Given the description of an element on the screen output the (x, y) to click on. 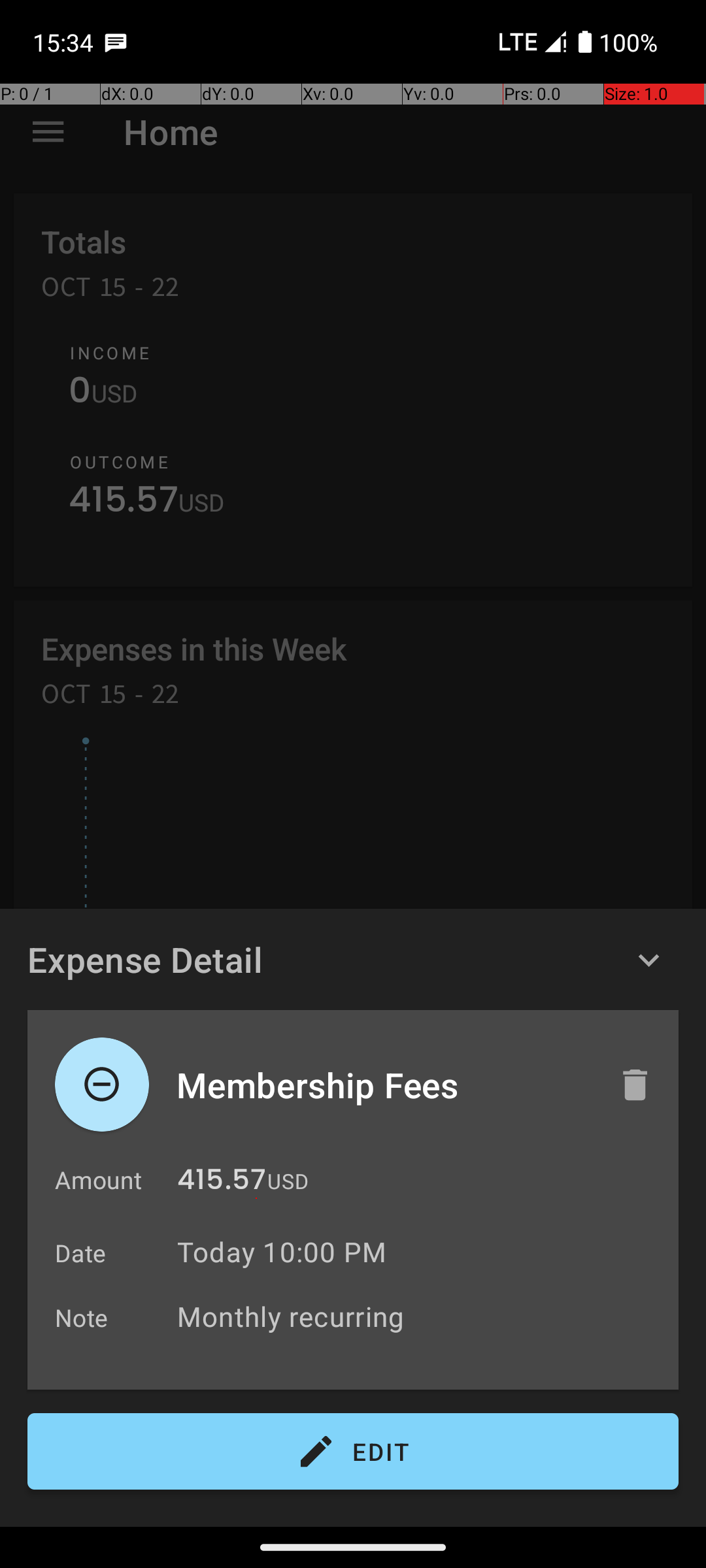
415.57 Element type: android.widget.TextView (221, 1182)
Today 10:00 PM Element type: android.widget.TextView (281, 1251)
